Given the description of an element on the screen output the (x, y) to click on. 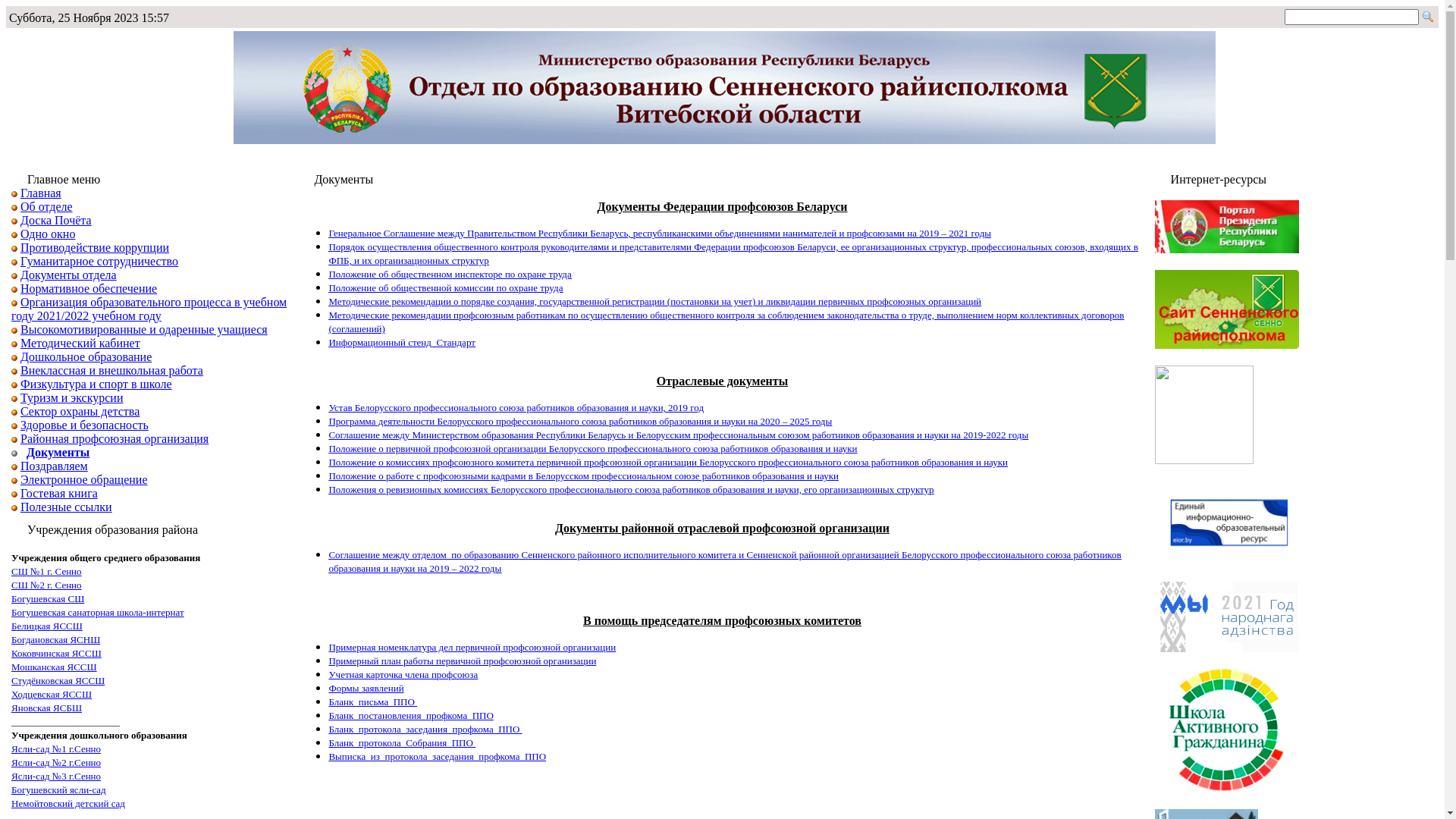
  Element type: hover (1226, 226)
